Given the description of an element on the screen output the (x, y) to click on. 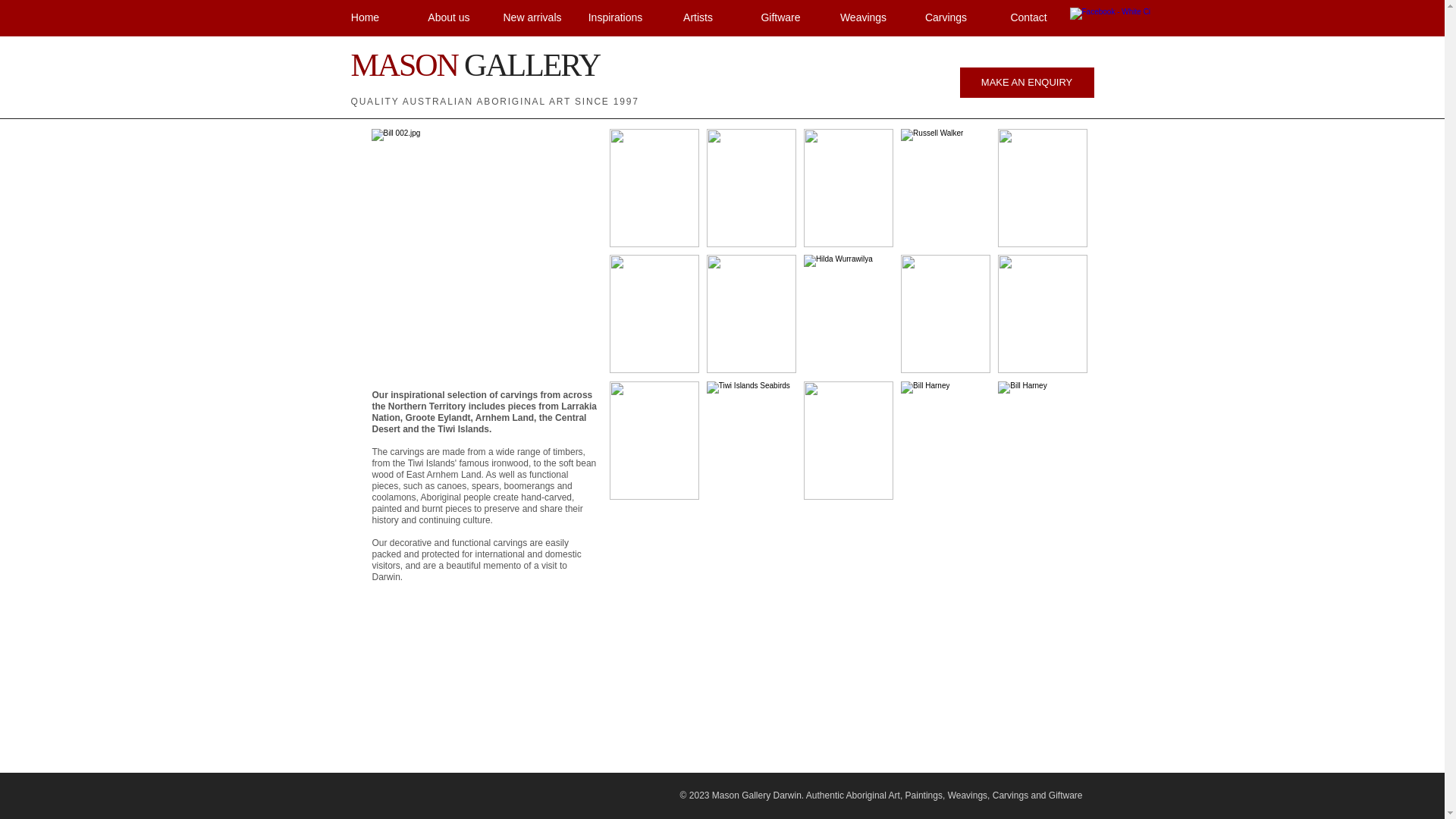
Inspirations Element type: text (614, 17)
Giftware Element type: text (779, 17)
Contact Element type: text (1028, 17)
Home Element type: text (364, 17)
Carvings Element type: text (944, 17)
MASON GALLERY Element type: text (474, 64)
About us Element type: text (447, 17)
Artists Element type: text (697, 17)
Weavings Element type: text (863, 17)
MAKE AN ENQUIRY Element type: text (1027, 82)
New arrivals Element type: text (531, 17)
